Given the description of an element on the screen output the (x, y) to click on. 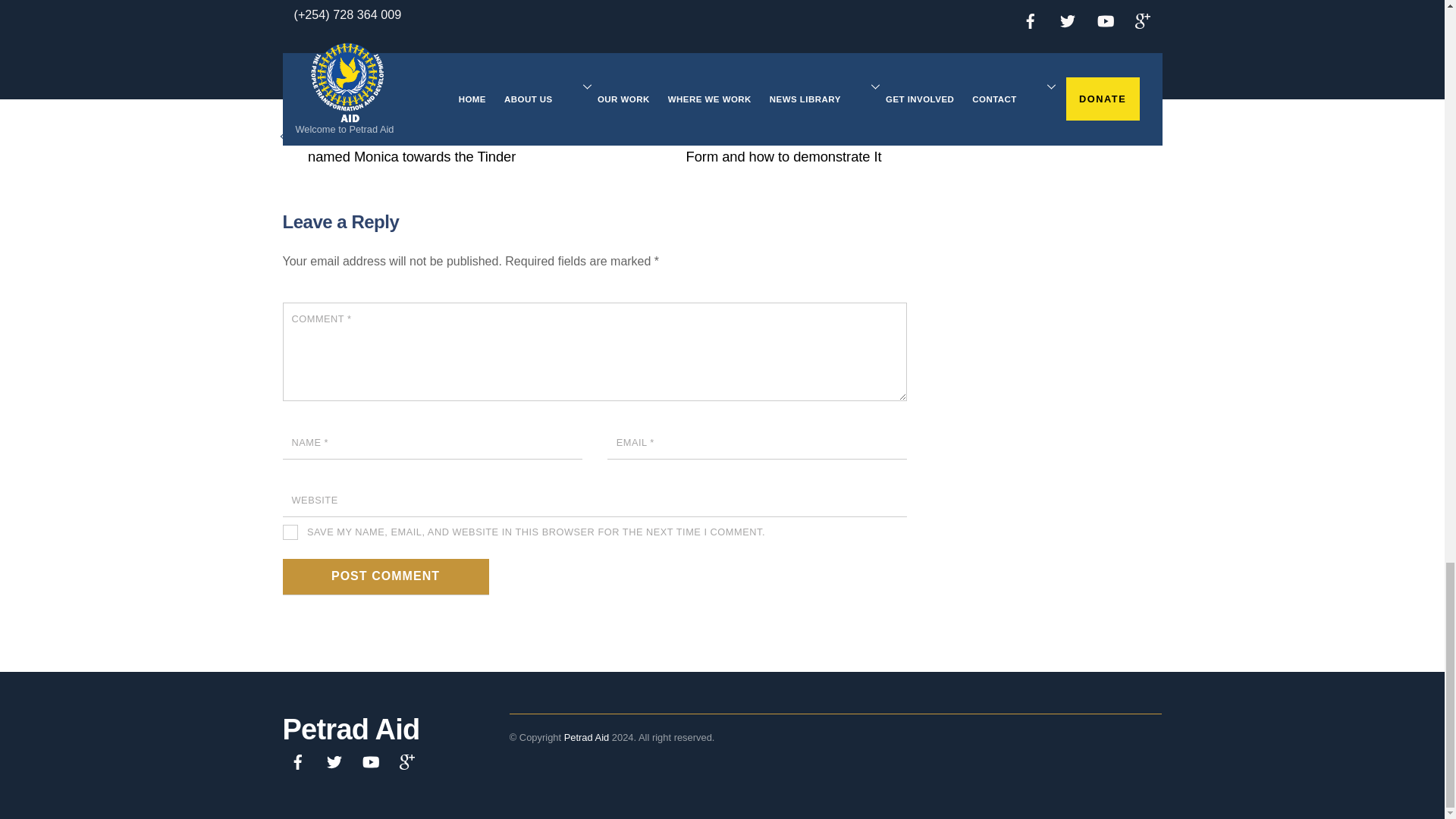
Post Comment (384, 576)
Petrad Aid (350, 729)
yes (289, 531)
Post Comment (384, 576)
